Given the description of an element on the screen output the (x, y) to click on. 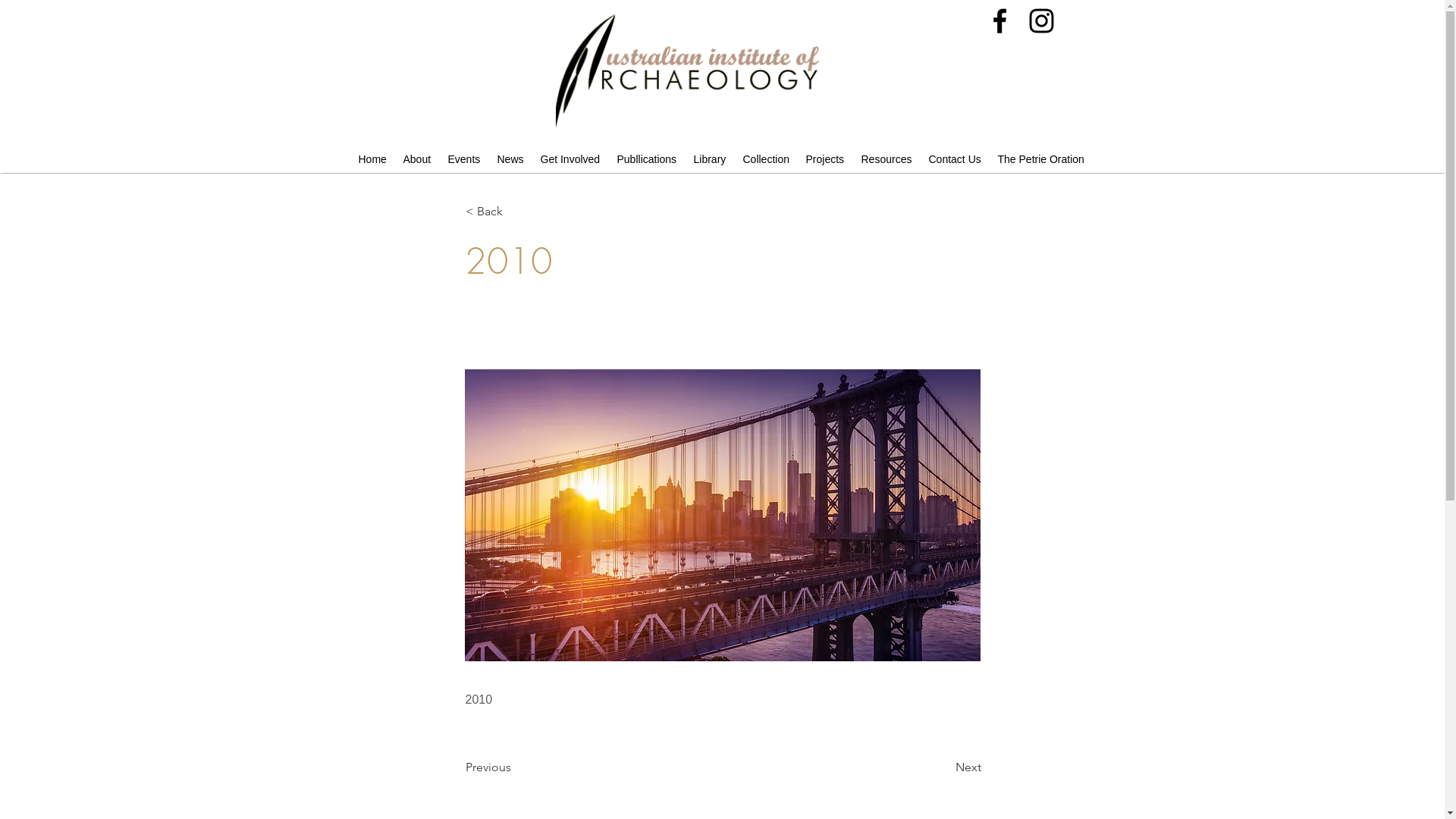
The Petrie Oration Element type: text (1041, 158)
Get Involved Element type: text (570, 158)
c8381ce0e7a94ad09ceaada2fc64081d.jpg Element type: hover (721, 515)
Collection Element type: text (766, 158)
Projects Element type: text (825, 158)
Next Element type: text (943, 767)
Previous Element type: text (515, 767)
Home Element type: text (372, 158)
Publlications Element type: text (647, 158)
Resources Element type: text (887, 158)
Contact Us Element type: text (954, 158)
Library Element type: text (709, 158)
